Given the description of an element on the screen output the (x, y) to click on. 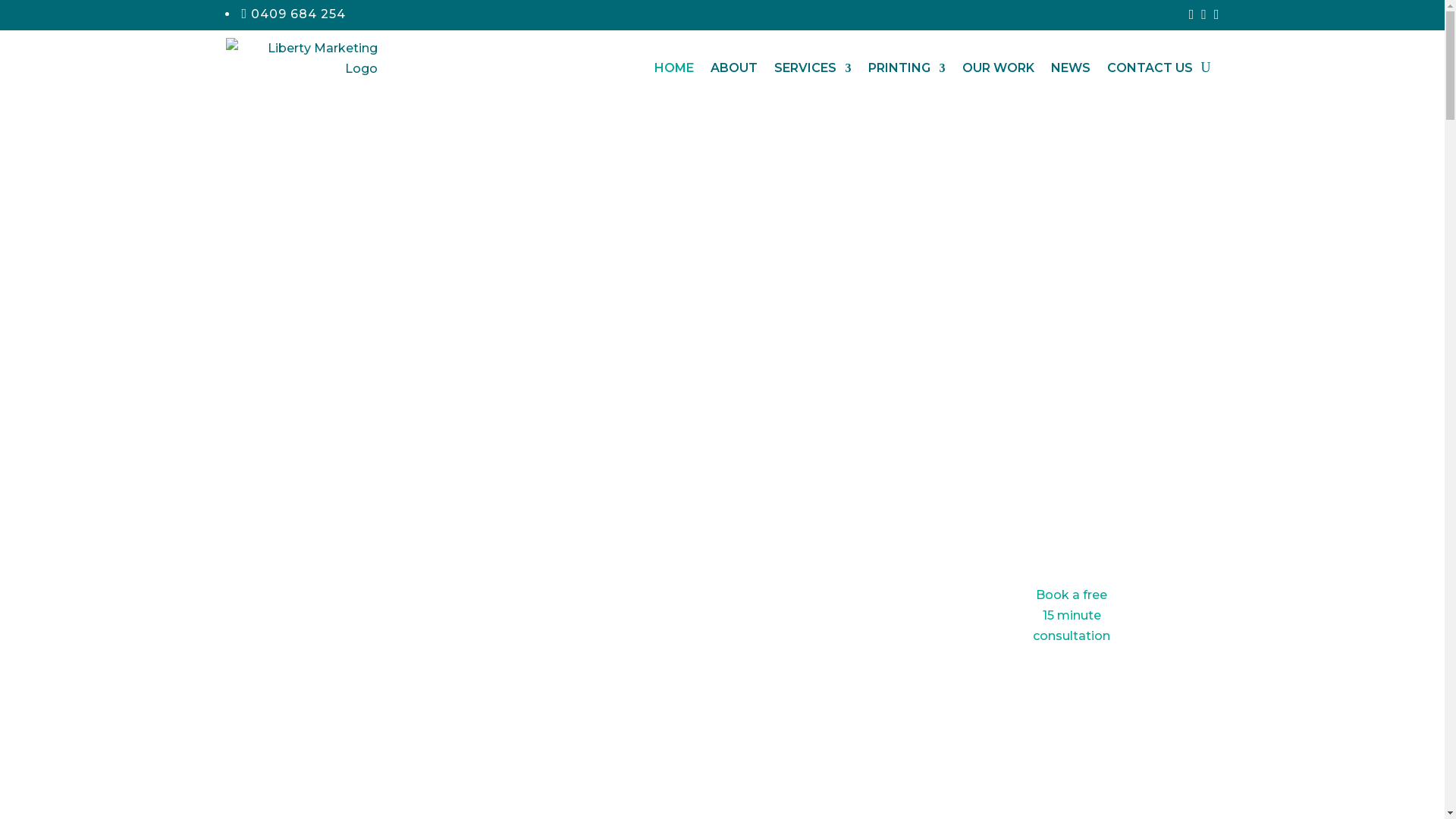
OUR WORK Element type: text (997, 67)
NEWS Element type: text (1070, 67)
ABOUT Element type: text (732, 67)
CONTACT US Element type: text (1149, 67)
Advanced Web Ranking Element type: text (348, 642)
SERVICES Element type: text (811, 67)
PRINTING Element type: text (905, 67)
HOME Element type: text (673, 67)
